Given the description of an element on the screen output the (x, y) to click on. 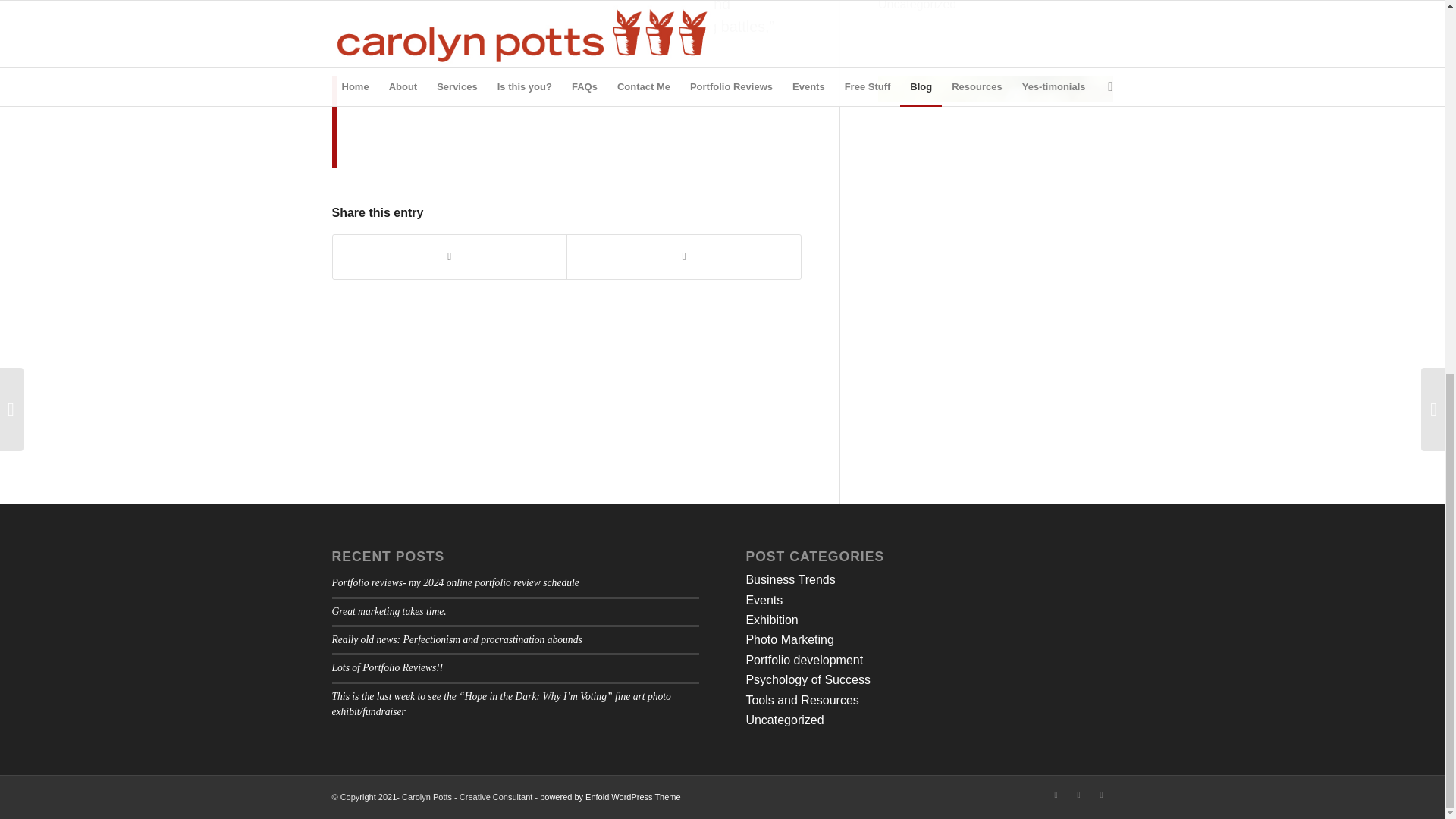
Instagram (1101, 793)
Facebook (1056, 793)
Twitter (1078, 793)
